Given the description of an element on the screen output the (x, y) to click on. 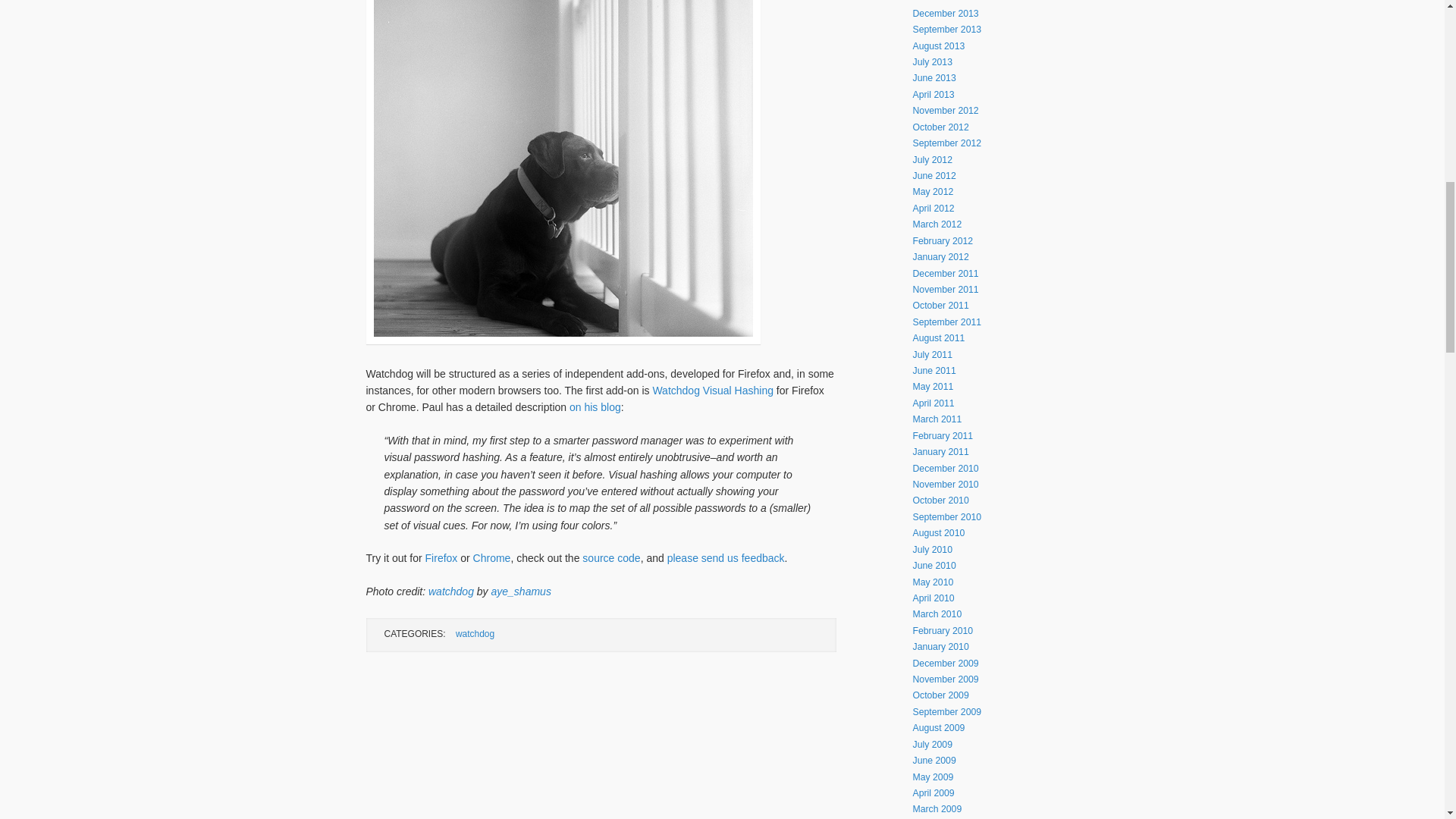
please send us feedback (725, 558)
watchdog (475, 633)
source code (611, 558)
July 2013 (932, 61)
December 2013 (945, 13)
Firefox (441, 558)
August 2013 (938, 45)
on his blog (595, 407)
September 2013 (946, 29)
Watchdog Visual Hashing (712, 390)
watchdog (451, 591)
Chrome (492, 558)
